Given the description of an element on the screen output the (x, y) to click on. 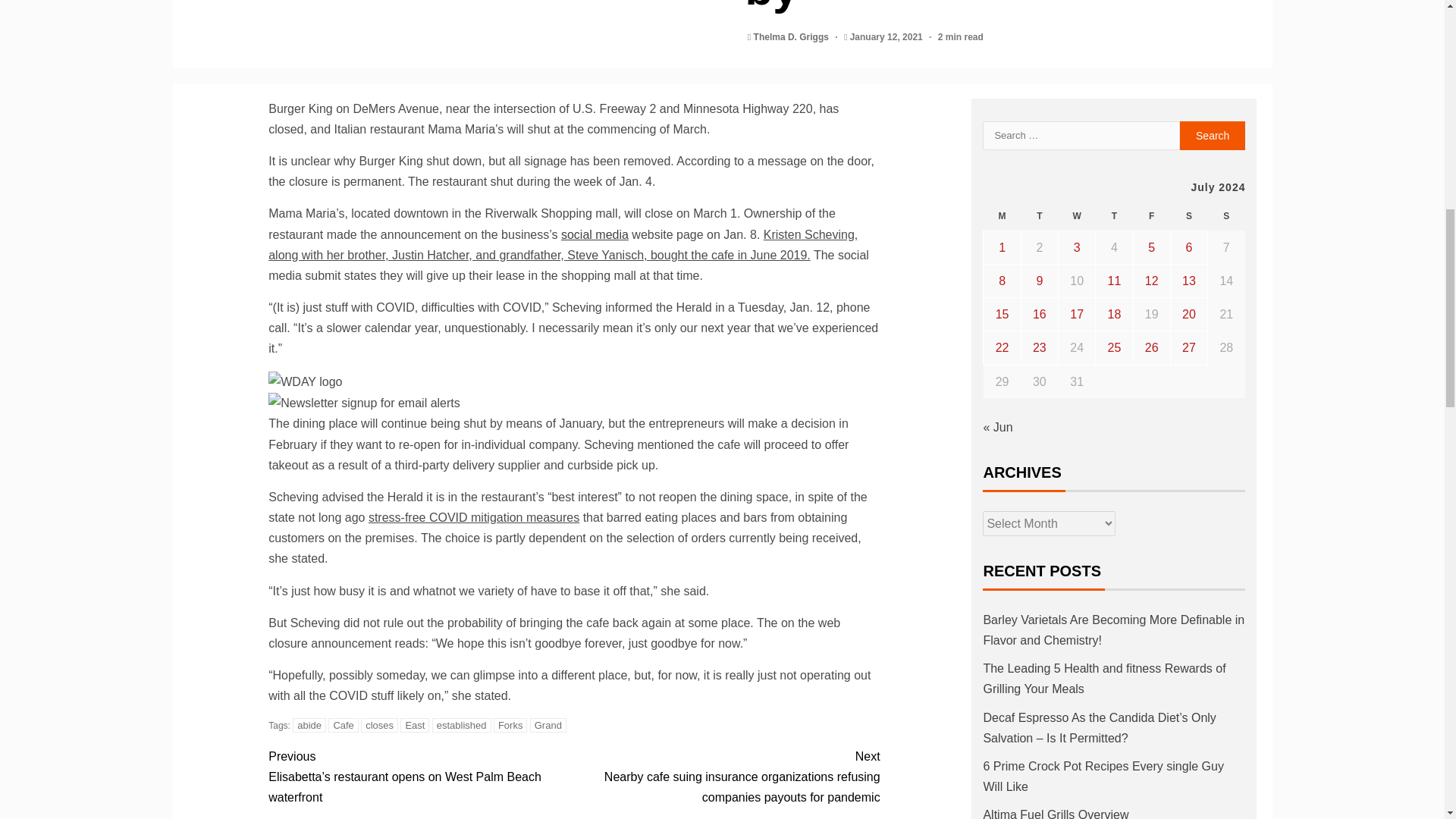
Wednesday (1077, 216)
abide (309, 725)
Search (1212, 135)
Monday (1002, 216)
East (414, 725)
Grand (547, 725)
established (462, 725)
Friday (1151, 216)
closes (379, 725)
Cafe (343, 725)
Thelma D. Griggs (792, 36)
Forks (510, 725)
Search (1212, 135)
social media (594, 234)
